Given the description of an element on the screen output the (x, y) to click on. 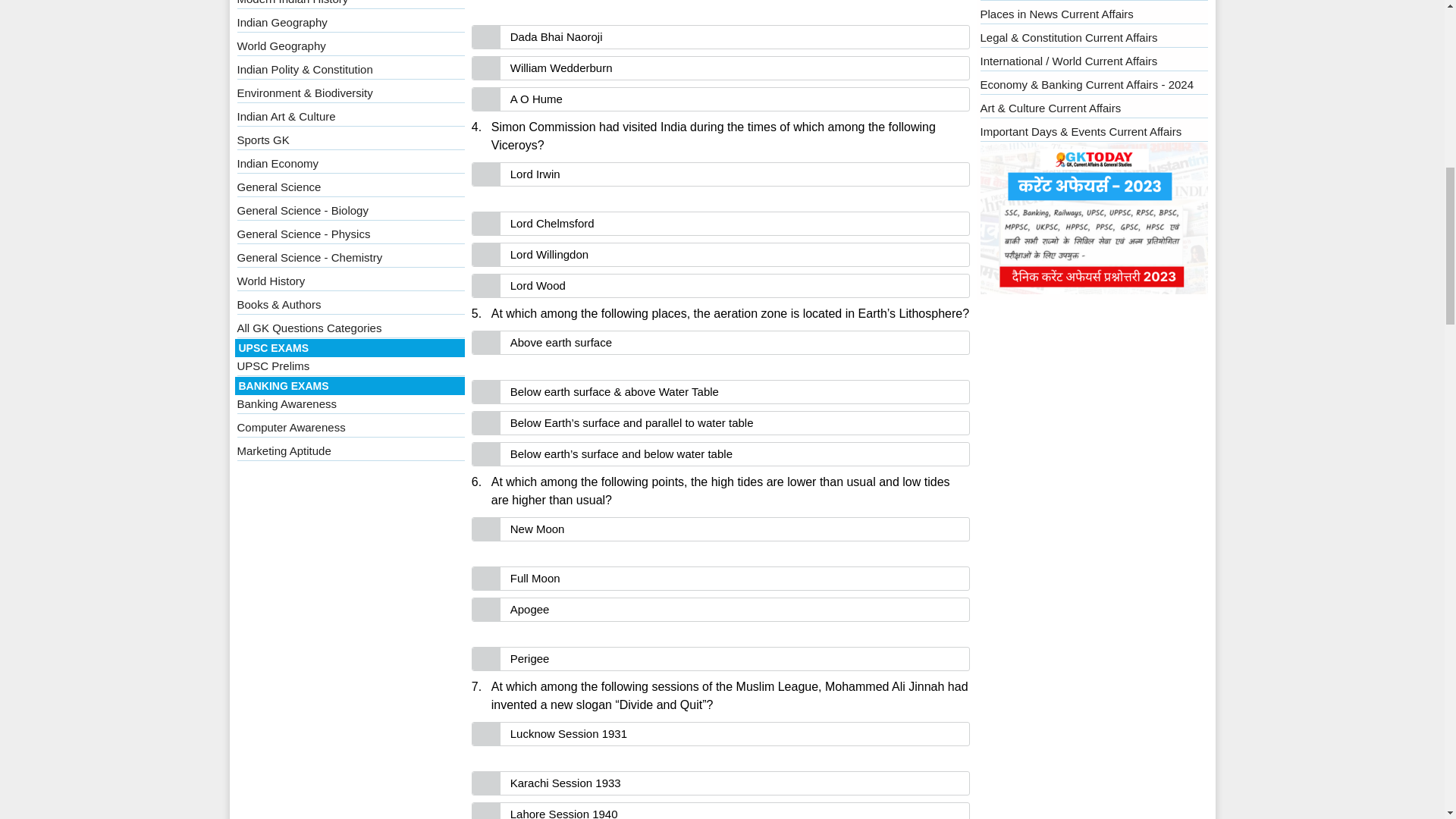
Advertisement (720, 9)
